Given the description of an element on the screen output the (x, y) to click on. 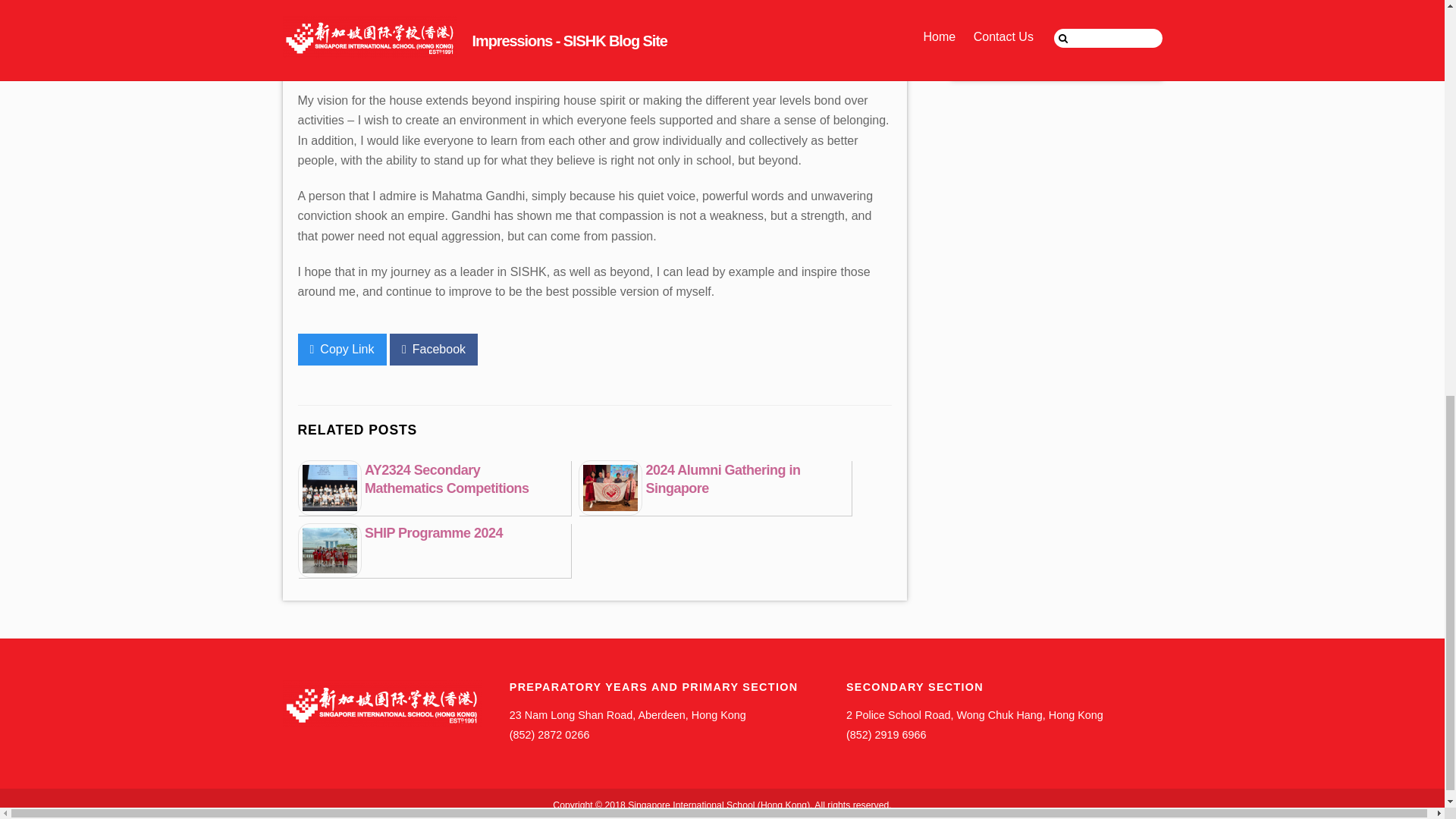
AY2324 Secondary Mathematics Competitions (447, 479)
Impressions - SISHK Blog Site (381, 703)
2024 Alumni Gathering in Singapore (722, 479)
AY2324 Secondary Mathematics Competitions (447, 479)
Facebook (433, 349)
2024 Alumni Gathering in Singapore (722, 479)
SHIP Programme 2024 (433, 532)
SHIP Programme 2024 (433, 532)
Impressions - SISHK Blog Site (381, 721)
